Given the description of an element on the screen output the (x, y) to click on. 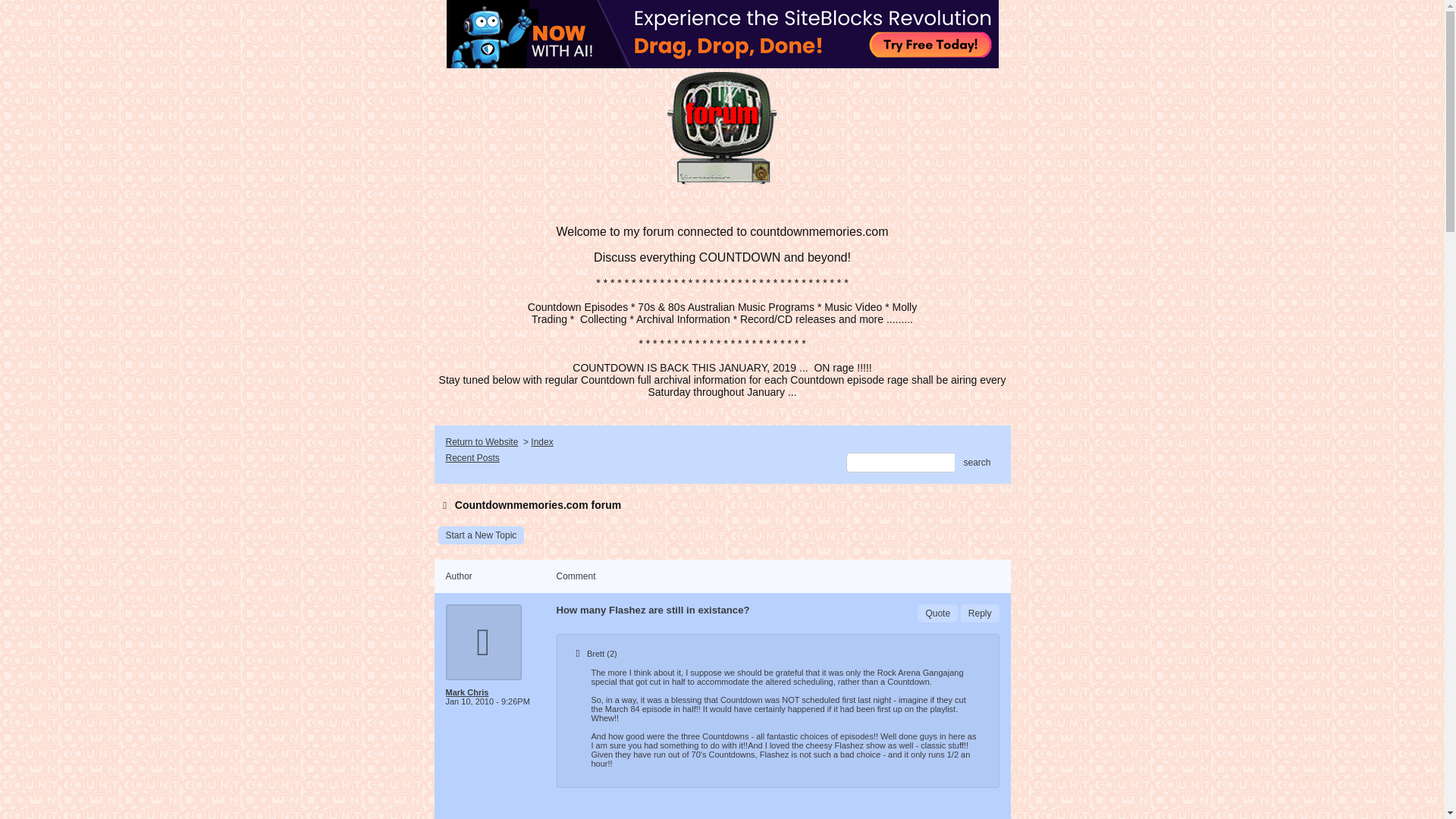
Messages from this User (467, 691)
Quote (937, 613)
Mark Chris (494, 691)
Start a New Topic (481, 535)
Index (542, 441)
Recent Posts (472, 457)
Return to Website (481, 441)
Reply (979, 613)
search (976, 462)
